Given the description of an element on the screen output the (x, y) to click on. 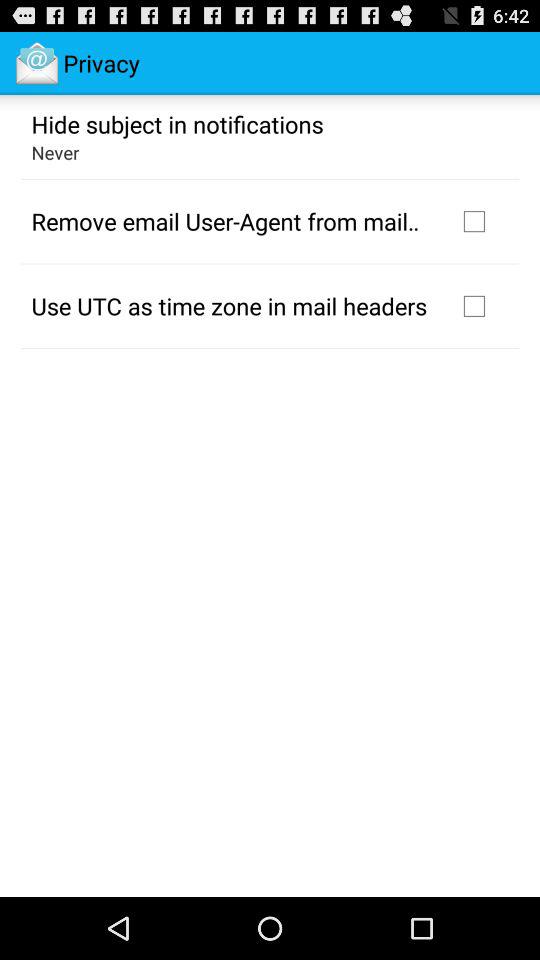
scroll until hide subject in icon (177, 123)
